Given the description of an element on the screen output the (x, y) to click on. 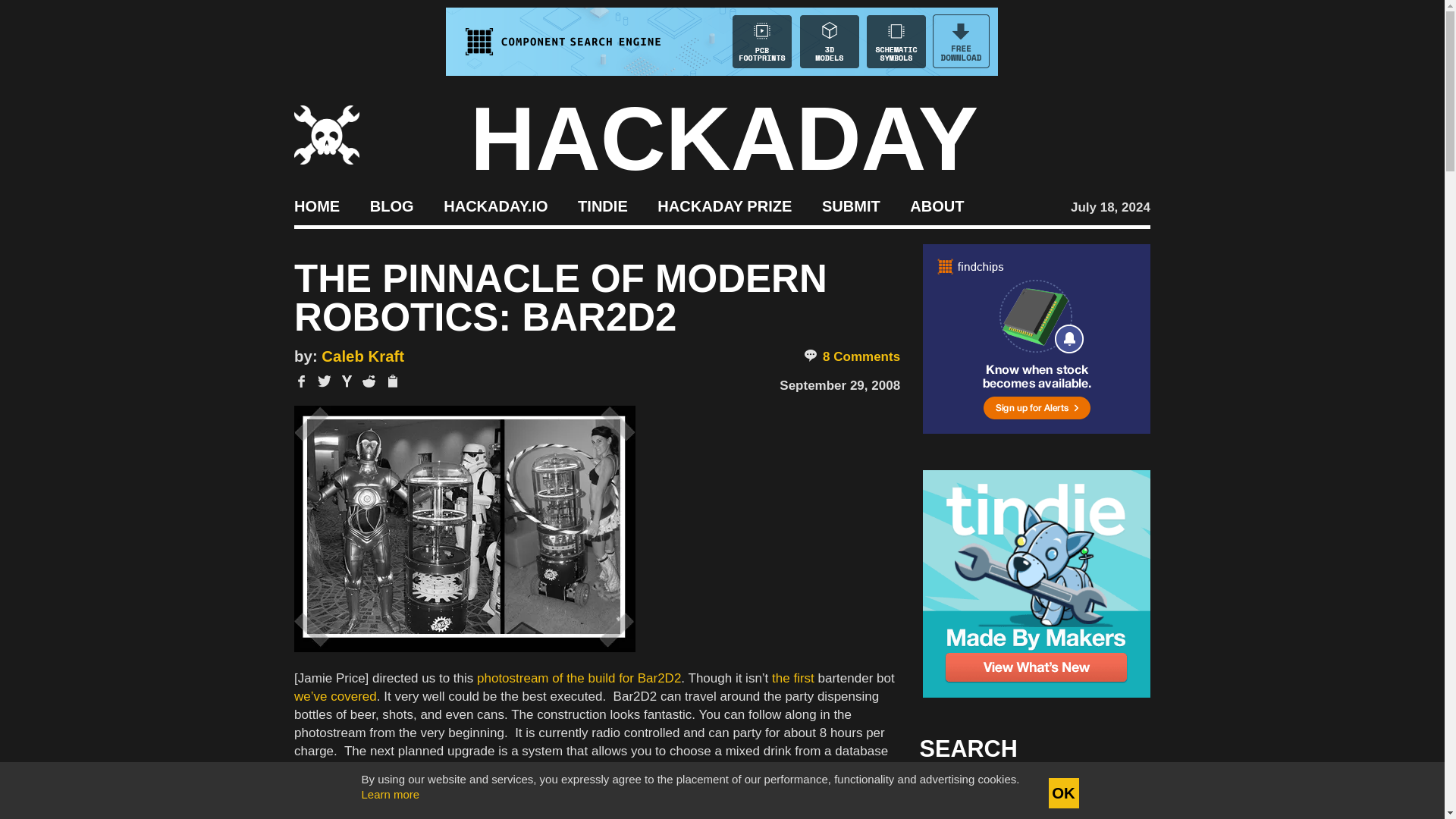
cheesy sci-fi tv pirate astronauts (592, 805)
HOME (316, 205)
girls (765, 799)
photostream of the build for Bar2D2 (579, 677)
Share on Reddit (369, 381)
Caleb Kraft (362, 356)
Search (1115, 792)
Share on Twitter (324, 381)
HACKADAY (724, 138)
the first (793, 677)
8 Comments (851, 356)
September 29, 2008 - 9:43 am (838, 385)
HACKADAY.IO (495, 205)
ABOUT (936, 205)
Share on Facebook (301, 381)
